Given the description of an element on the screen output the (x, y) to click on. 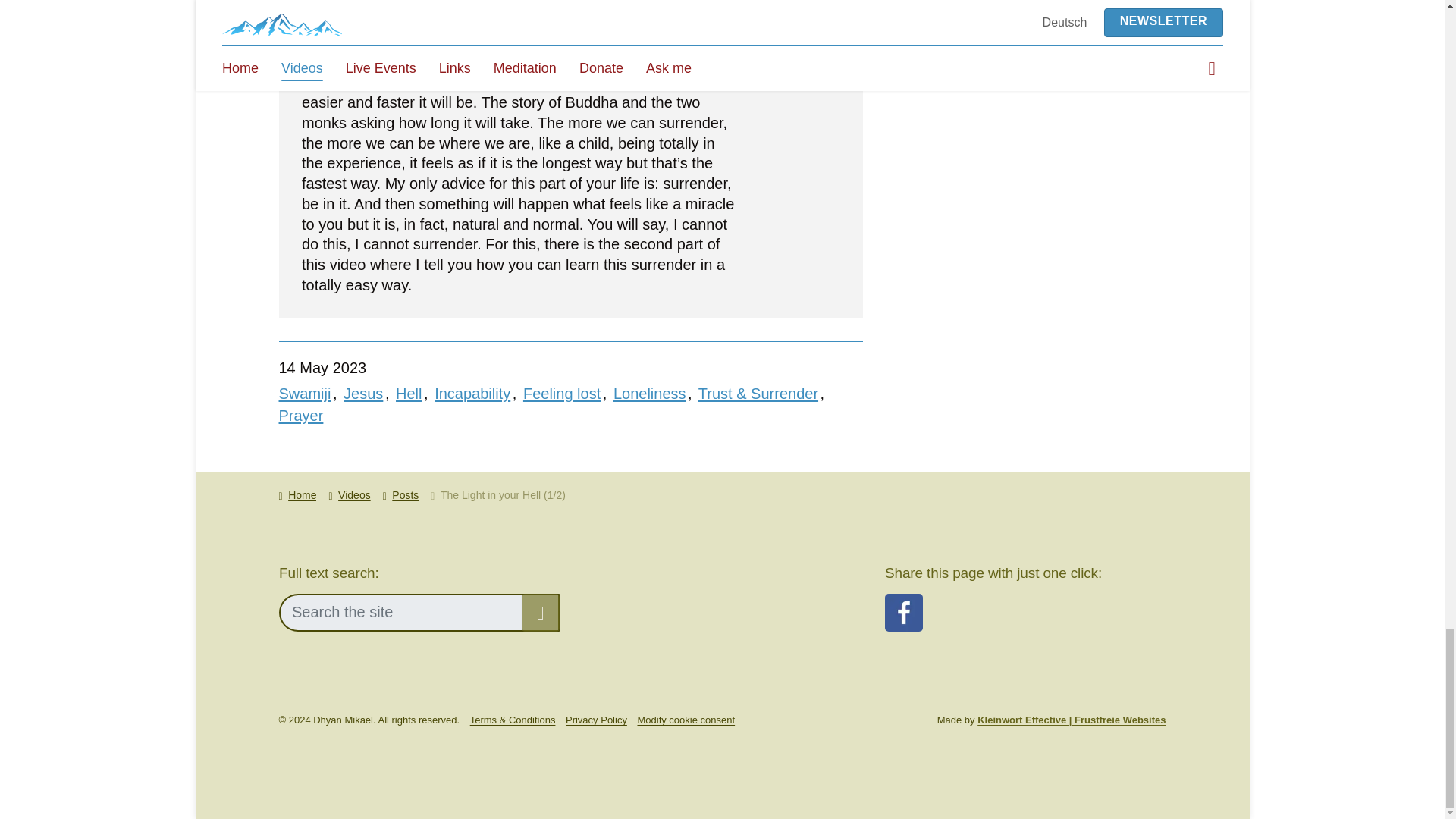
Incapability (472, 393)
Prayer (301, 415)
Jesus (362, 393)
Hell (409, 393)
Swamiji (305, 393)
Loneliness (648, 393)
Feeling lost (560, 393)
Jesus (362, 393)
Feeling lost (560, 393)
Loneliness (648, 393)
